Given the description of an element on the screen output the (x, y) to click on. 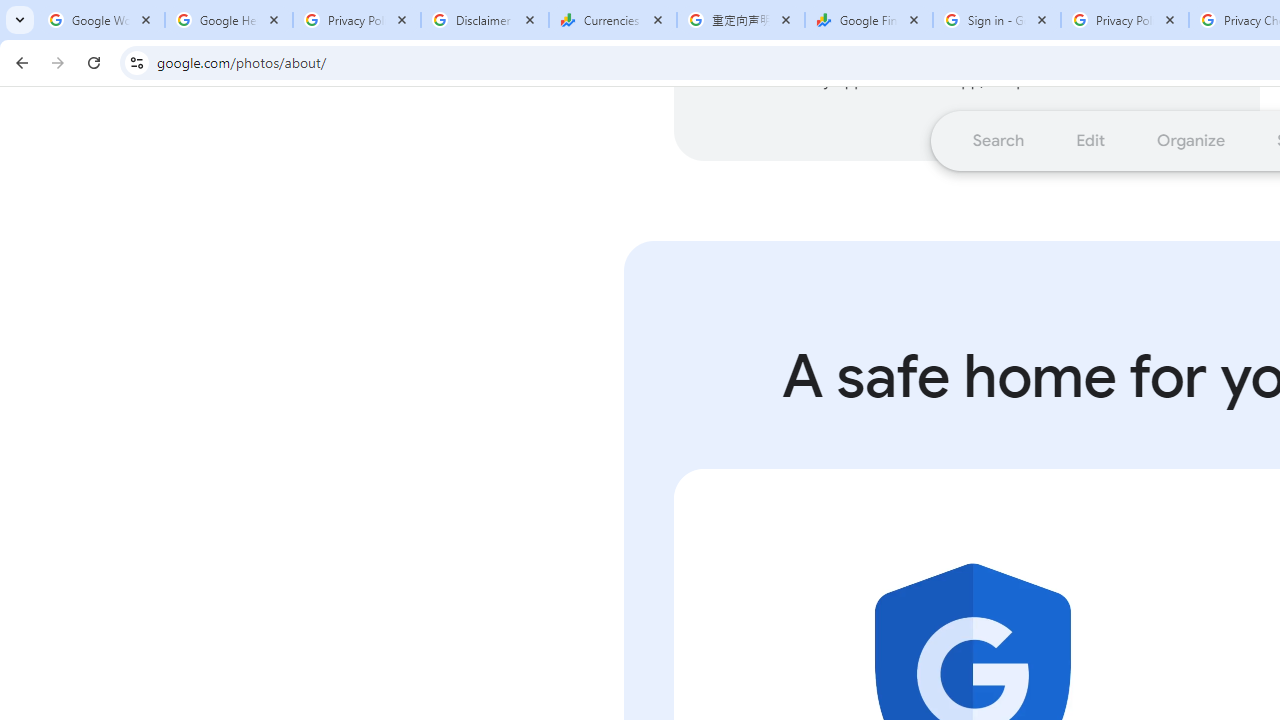
Go to section: Search (998, 140)
Go to section: Organize (1191, 140)
